Given the description of an element on the screen output the (x, y) to click on. 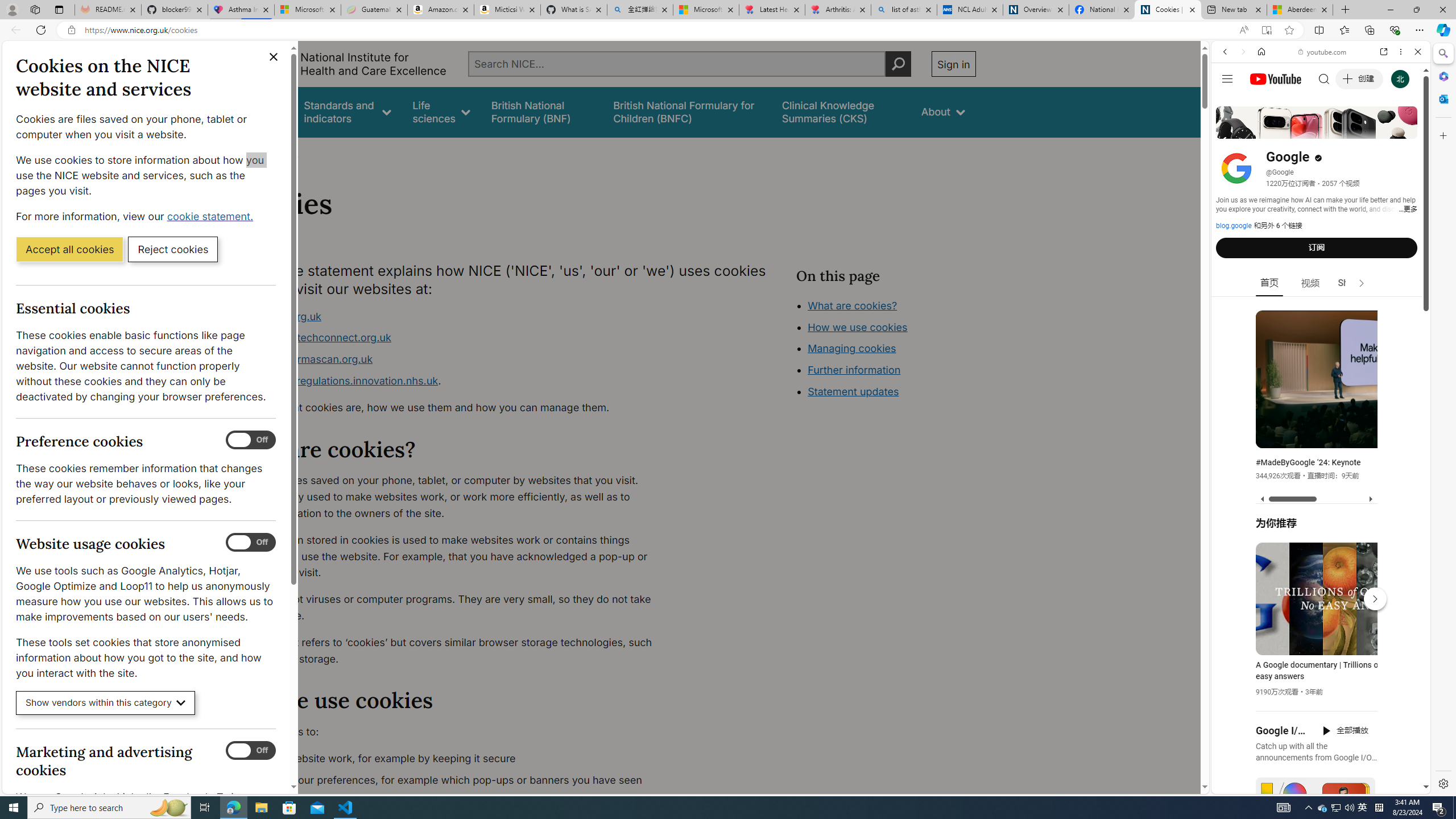
YouTube (1315, 655)
Google I/O 2024 (1281, 730)
youtube.com (1322, 51)
blog.google (1233, 225)
Actions for this site (1371, 661)
Trailer #2 [HD] (1320, 336)
Cookies | About | NICE (1167, 9)
Class: b_serphb (1404, 130)
